Given the description of an element on the screen output the (x, y) to click on. 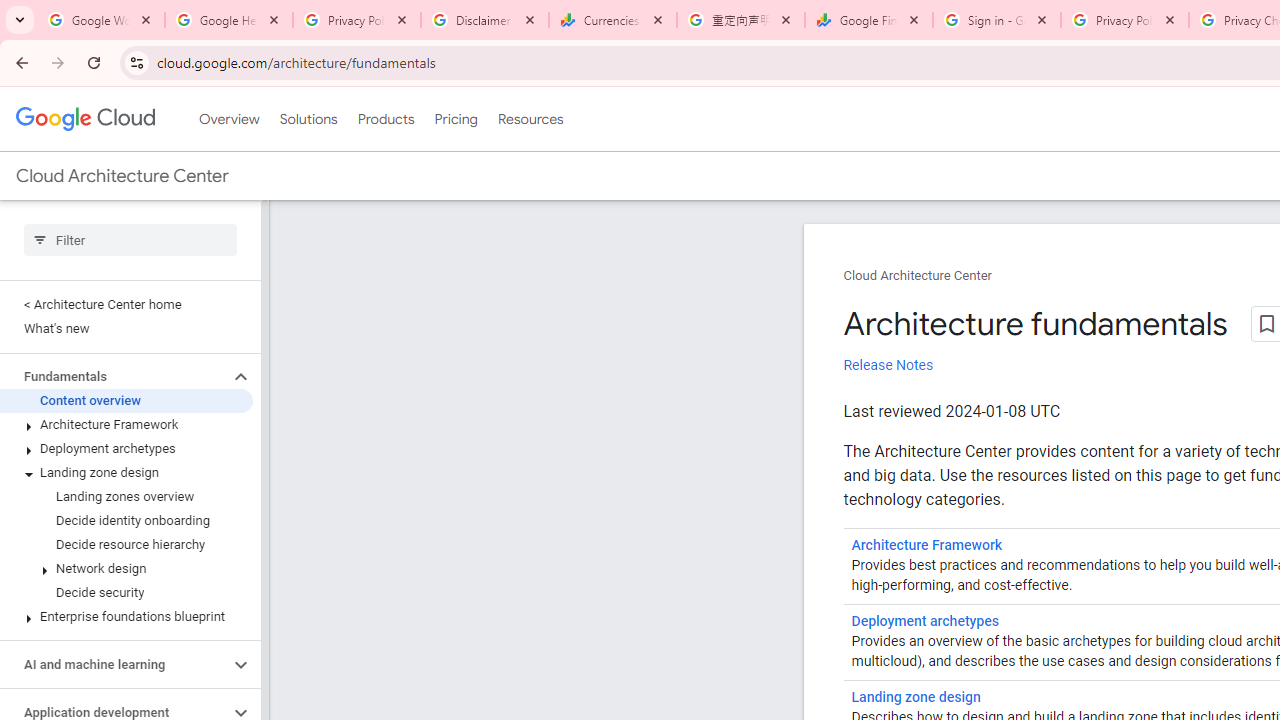
Decide security (126, 592)
Cloud Architecture Center (917, 276)
< Architecture Center home (126, 304)
Landing zone design (915, 697)
Products (385, 119)
Decide identity onboarding (126, 520)
Release Notes (888, 365)
Network design (126, 569)
Content overview (126, 400)
